Given the description of an element on the screen output the (x, y) to click on. 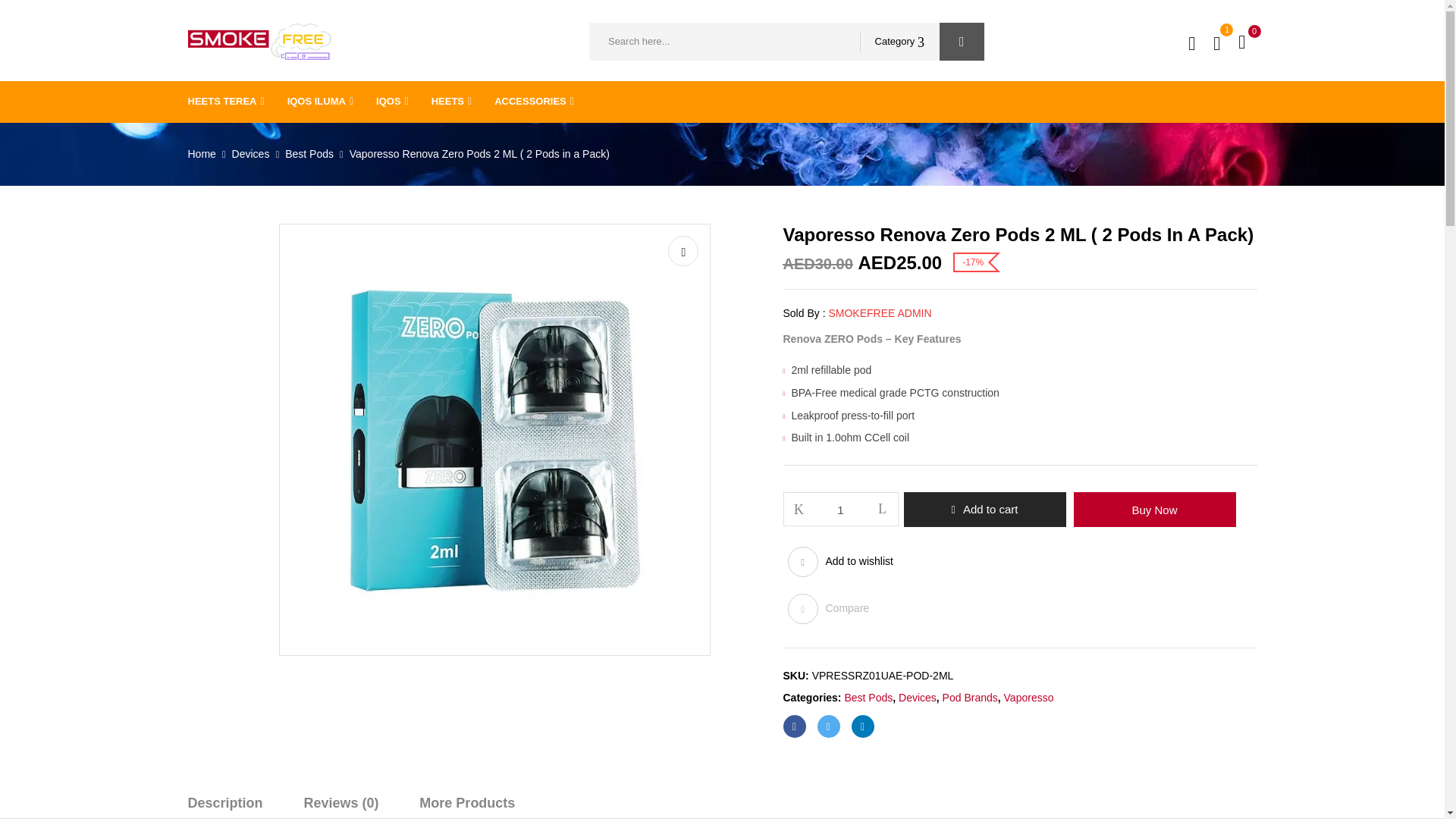
1 (841, 510)
LinkedIn (861, 725)
Twitter (828, 725)
Facebook (794, 725)
